Given the description of an element on the screen output the (x, y) to click on. 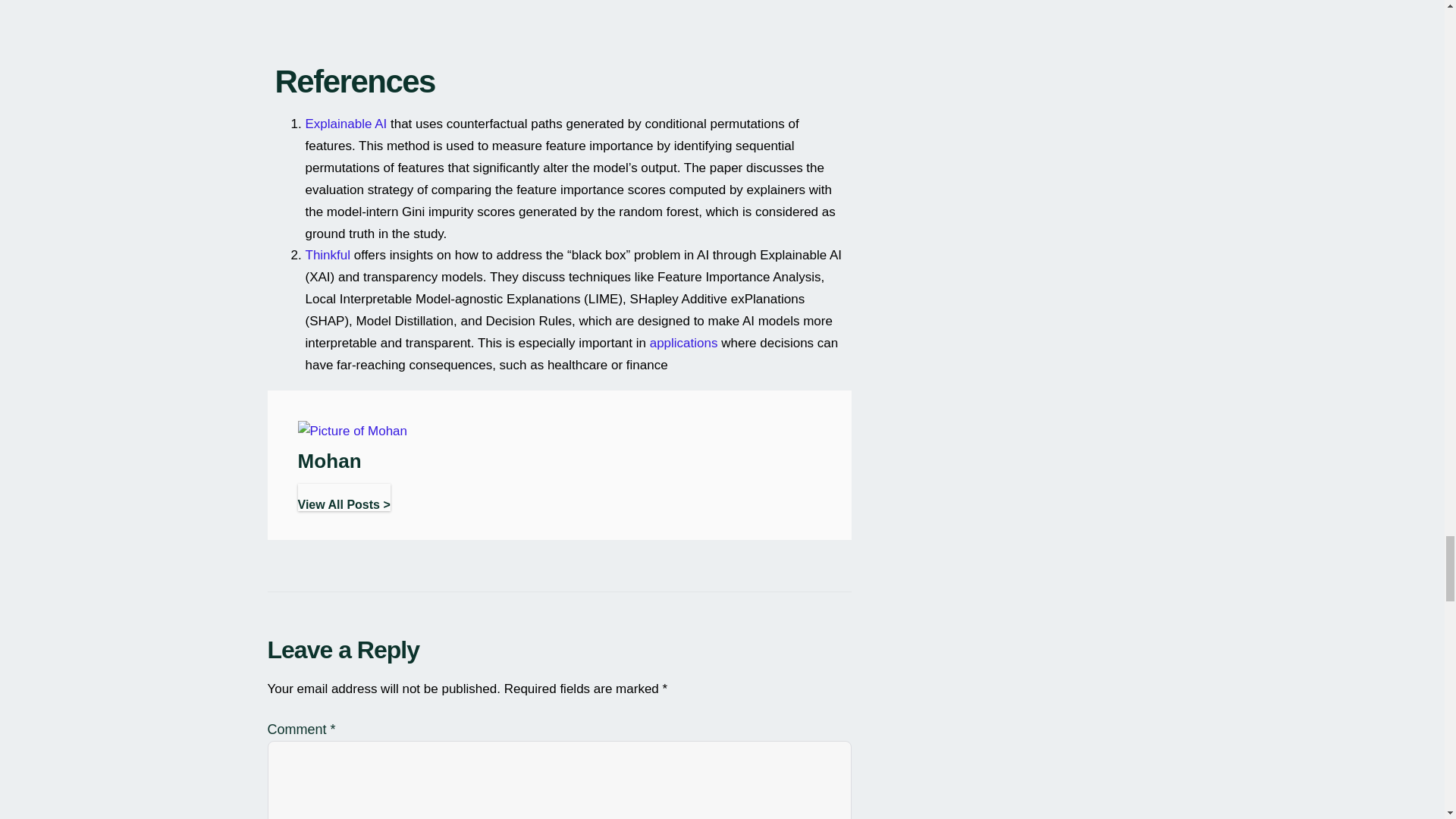
Thinkful (327, 255)
Webnode - Make your own website for free! (683, 342)
Explainable AI (345, 124)
